Given the description of an element on the screen output the (x, y) to click on. 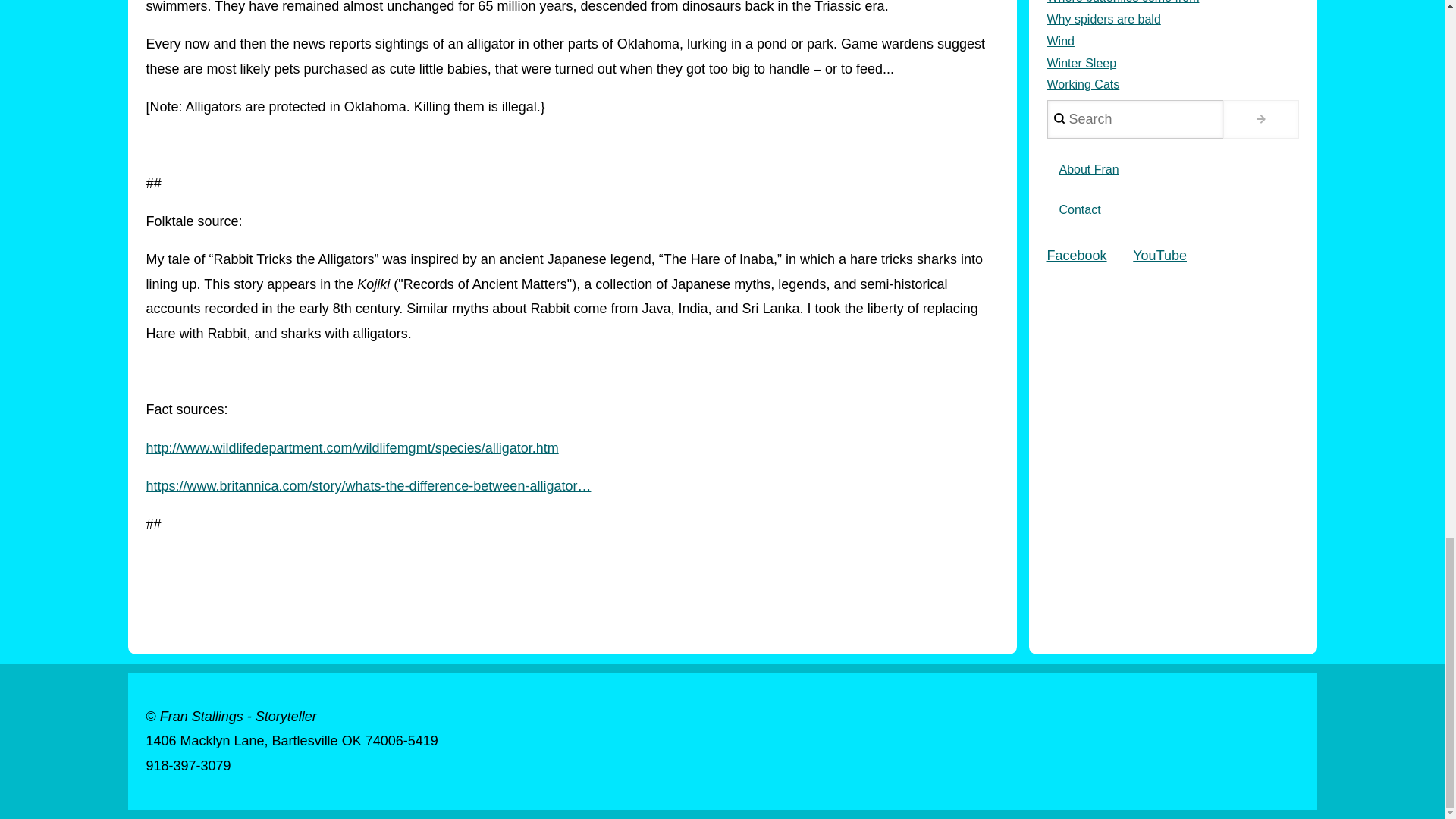
. (1260, 118)
Enter the terms you wish to search for. (1134, 118)
. (1260, 118)
